Given the description of an element on the screen output the (x, y) to click on. 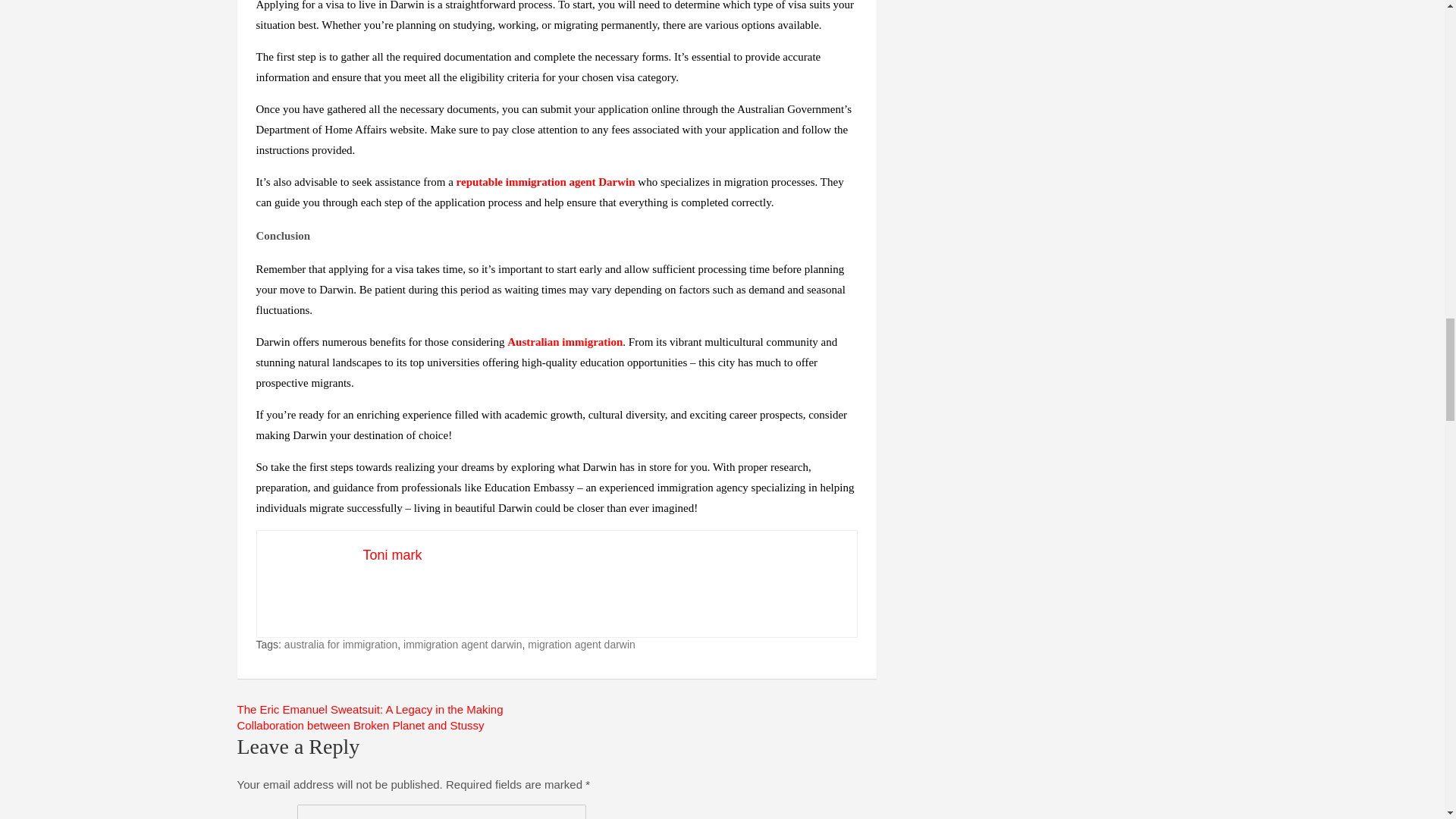
The Eric Emanuel Sweatsuit: A Legacy in the Making (368, 708)
reputable immigration agent Darwin (545, 182)
Australian immigration (564, 341)
Collaboration between Broken Planet and Stussy (359, 725)
migration agent darwin (580, 644)
Toni mark (392, 554)
immigration agent darwin (462, 644)
australia for immigration (340, 644)
